Given the description of an element on the screen output the (x, y) to click on. 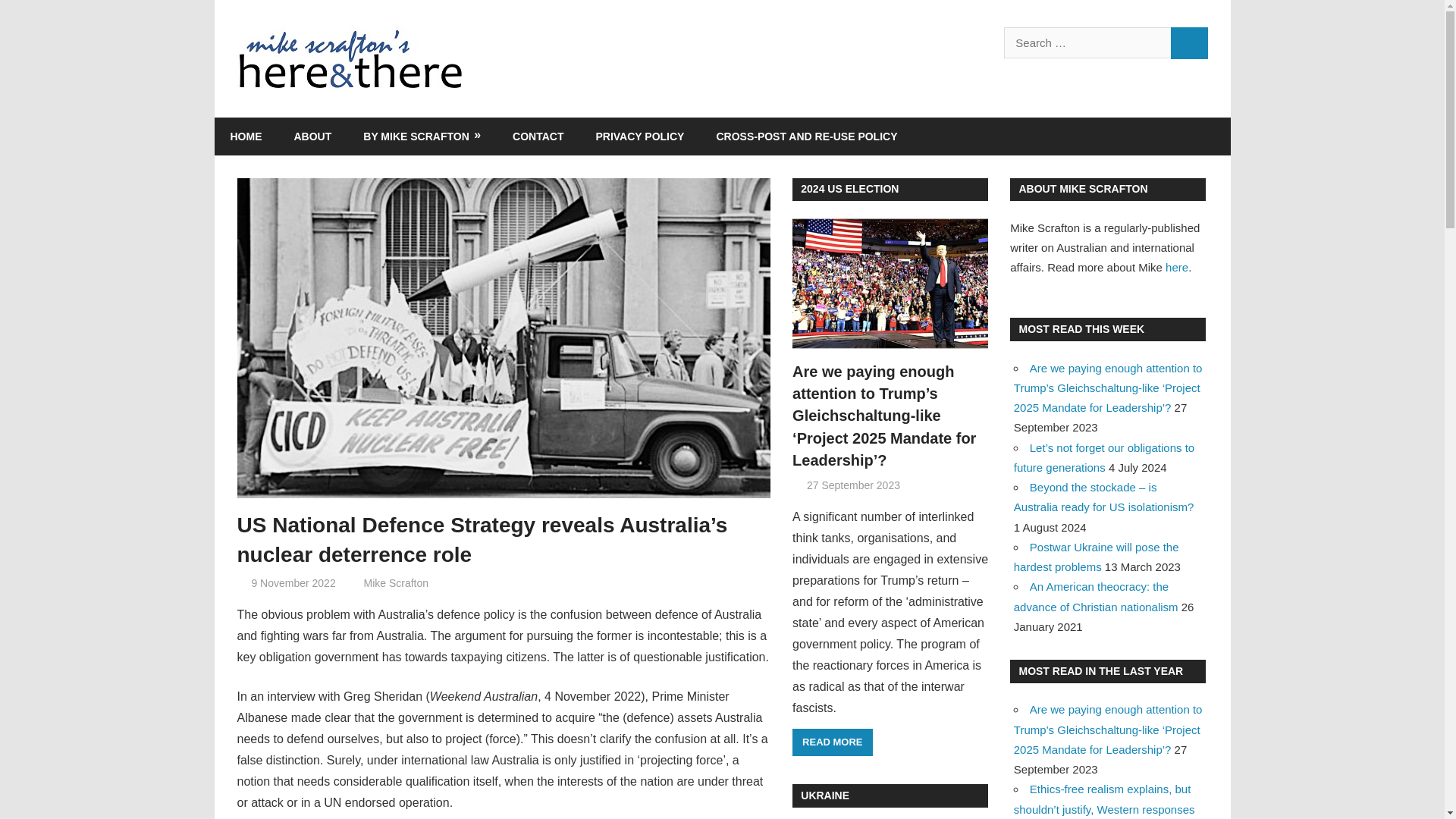
ABOUT (312, 136)
9 November 2022 (292, 582)
2024 US ELECTION (849, 188)
4:02 am (852, 485)
BY MIKE SCRAFTON (421, 136)
CONTACT (537, 136)
Search for: (1088, 42)
1:58 am (292, 582)
PRIVACY POLICY (639, 136)
Australian focus (490, 582)
View all posts from category Ukraine (824, 795)
View all posts by Mike Scrafton (395, 582)
CROSS-POST AND RE-USE POLICY (806, 136)
View all posts from category Featured (849, 188)
SEARCH (1189, 42)
